Given the description of an element on the screen output the (x, y) to click on. 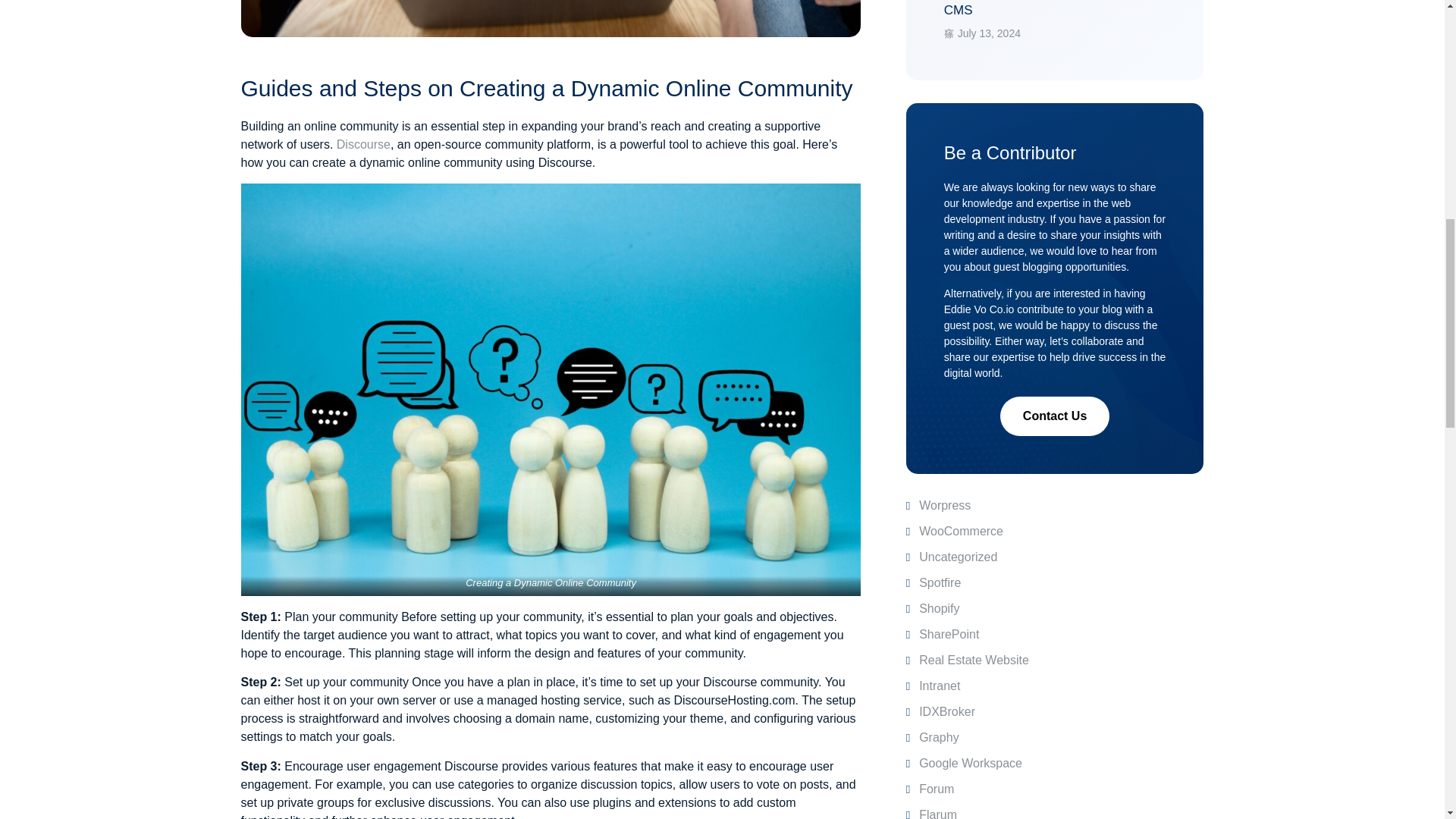
Discourse (363, 144)
